Given the description of an element on the screen output the (x, y) to click on. 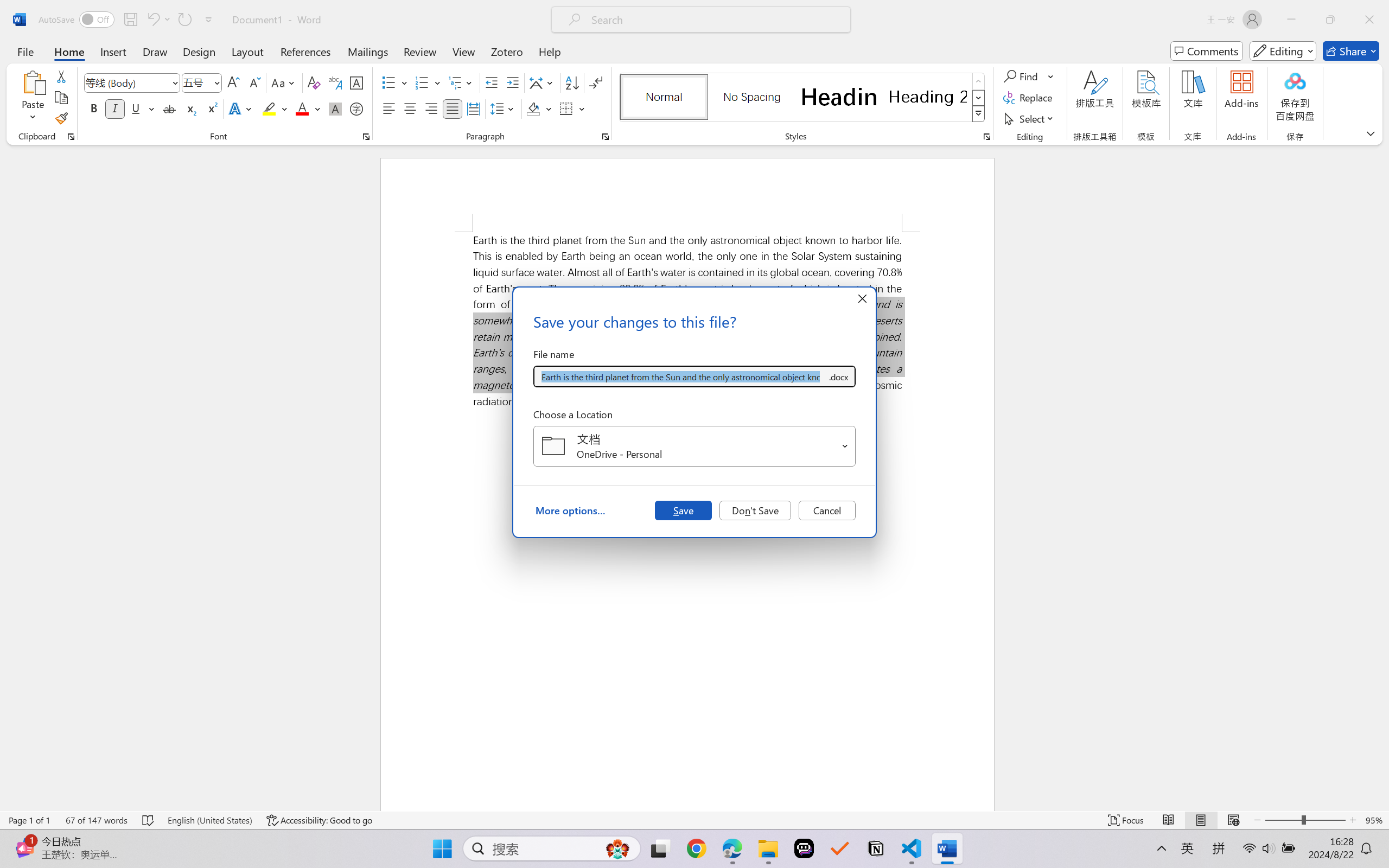
Zoom 95% (1374, 819)
Character Shading (334, 108)
Center (409, 108)
Justify (452, 108)
